Given the description of an element on the screen output the (x, y) to click on. 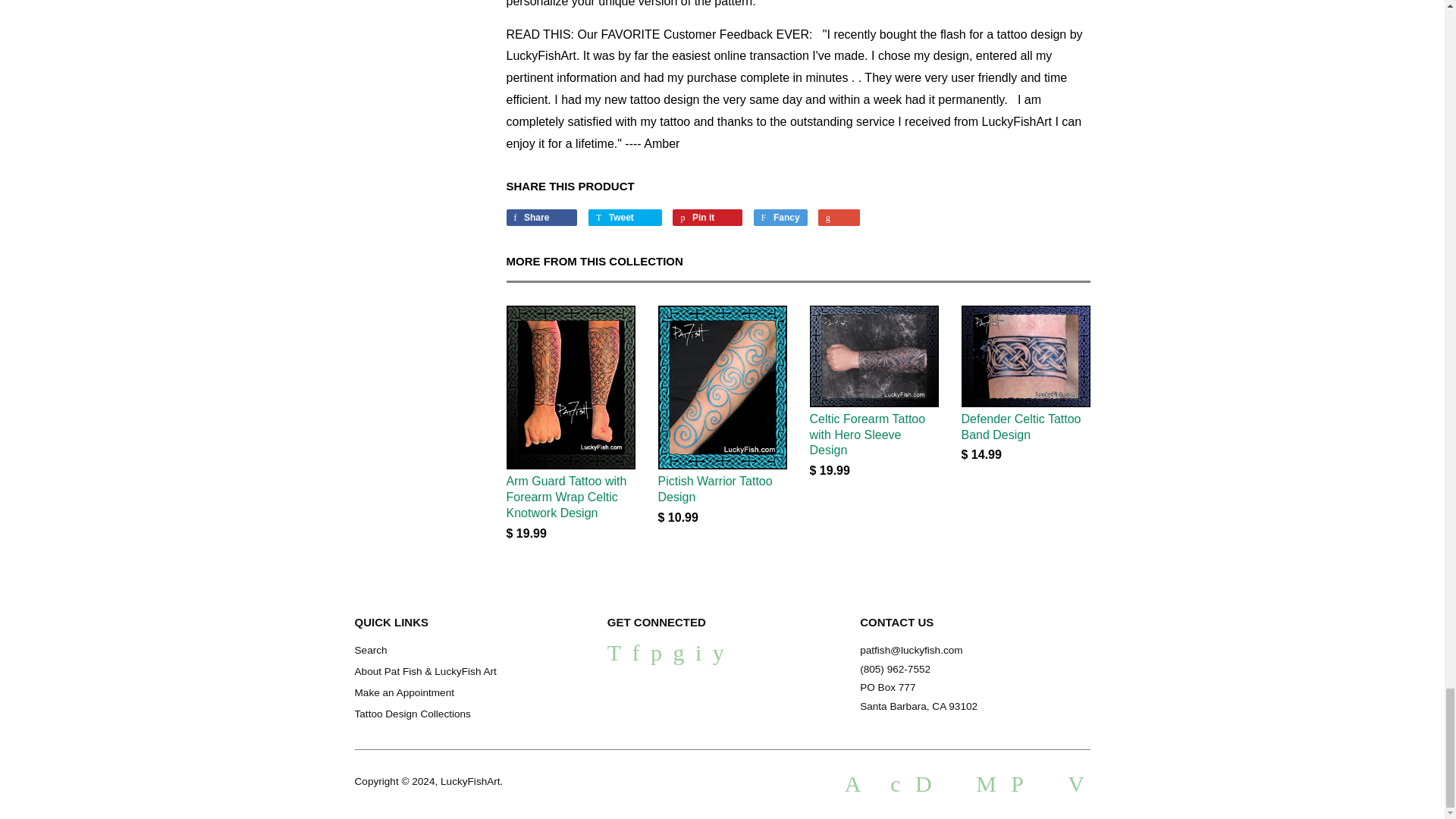
LuckyFishArt on Instagram (698, 656)
LuckyFishArt on Twitter (614, 656)
LuckyFishArt on Pinterest (656, 656)
LuckyFishArt on YouTube (718, 656)
LuckyFishArt on Facebook (635, 656)
LuckyFishArt on Google Plus (678, 656)
